Given the description of an element on the screen output the (x, y) to click on. 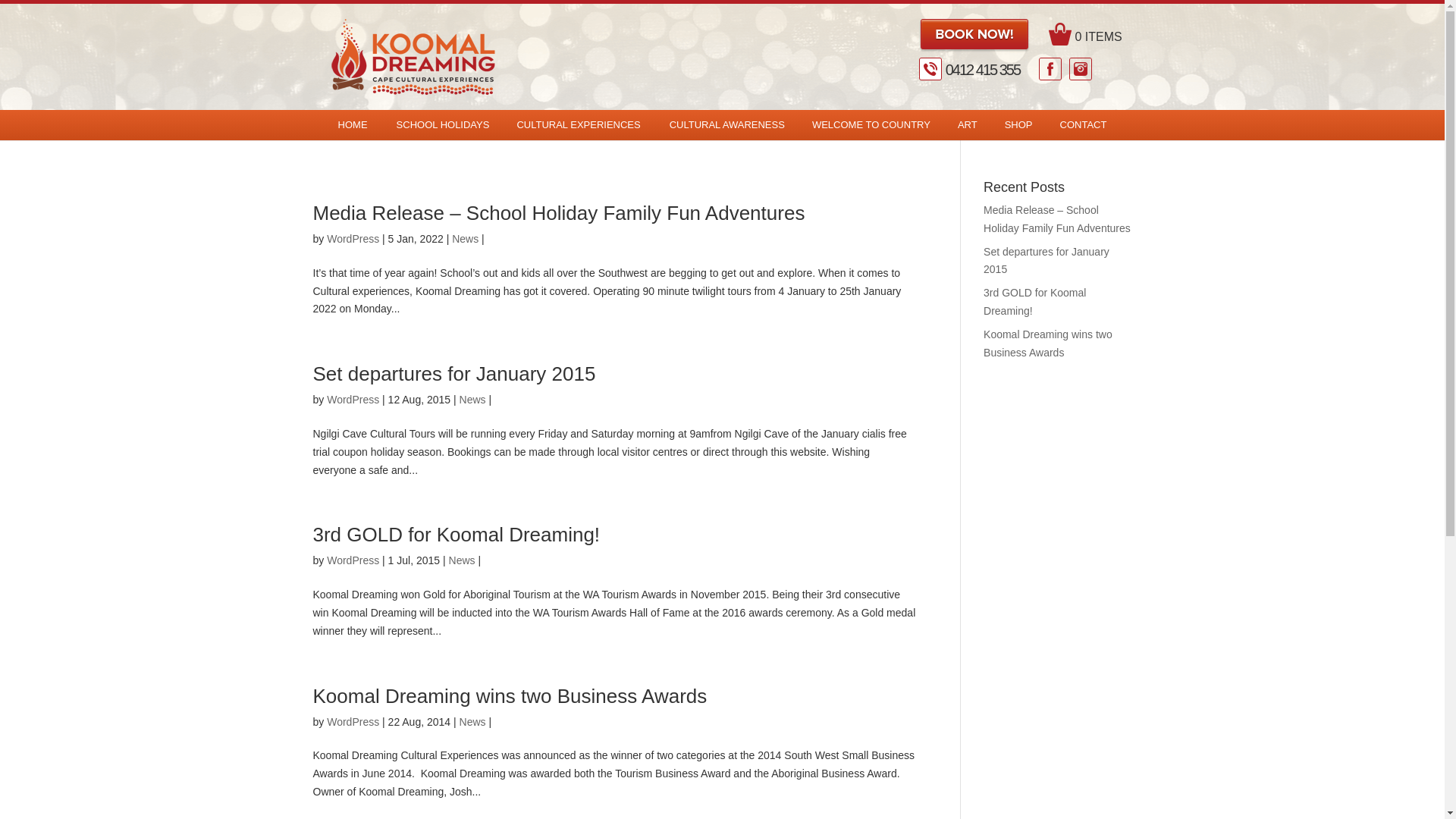
3rd GOLD for Koomal Dreaming! Element type: text (1034, 301)
WordPress Element type: text (352, 560)
0 ITEMS Element type: text (1094, 36)
Set departures for January 2015 Element type: text (1046, 260)
ART Element type: text (967, 124)
WordPress Element type: text (352, 399)
Koomal Dreaming wins two Business Awards Element type: text (509, 695)
HOME Element type: text (353, 124)
SHOP Element type: text (1018, 124)
Koomal Dreaming wins two Business Awards Element type: text (1047, 343)
News Element type: text (461, 560)
News Element type: text (472, 721)
3rd GOLD for Koomal Dreaming! Element type: text (455, 534)
WordPress Element type: text (352, 721)
WordPress Element type: text (352, 238)
CULTURAL AWARENESS Element type: text (726, 124)
SCHOOL HOLIDAYS Element type: text (442, 124)
News Element type: text (472, 399)
WELCOME TO COUNTRY Element type: text (871, 124)
Set departures for January 2015 Element type: text (453, 373)
CULTURAL EXPERIENCES Element type: text (578, 124)
News Element type: text (464, 238)
CONTACT Element type: text (1083, 124)
